Given the description of an element on the screen output the (x, y) to click on. 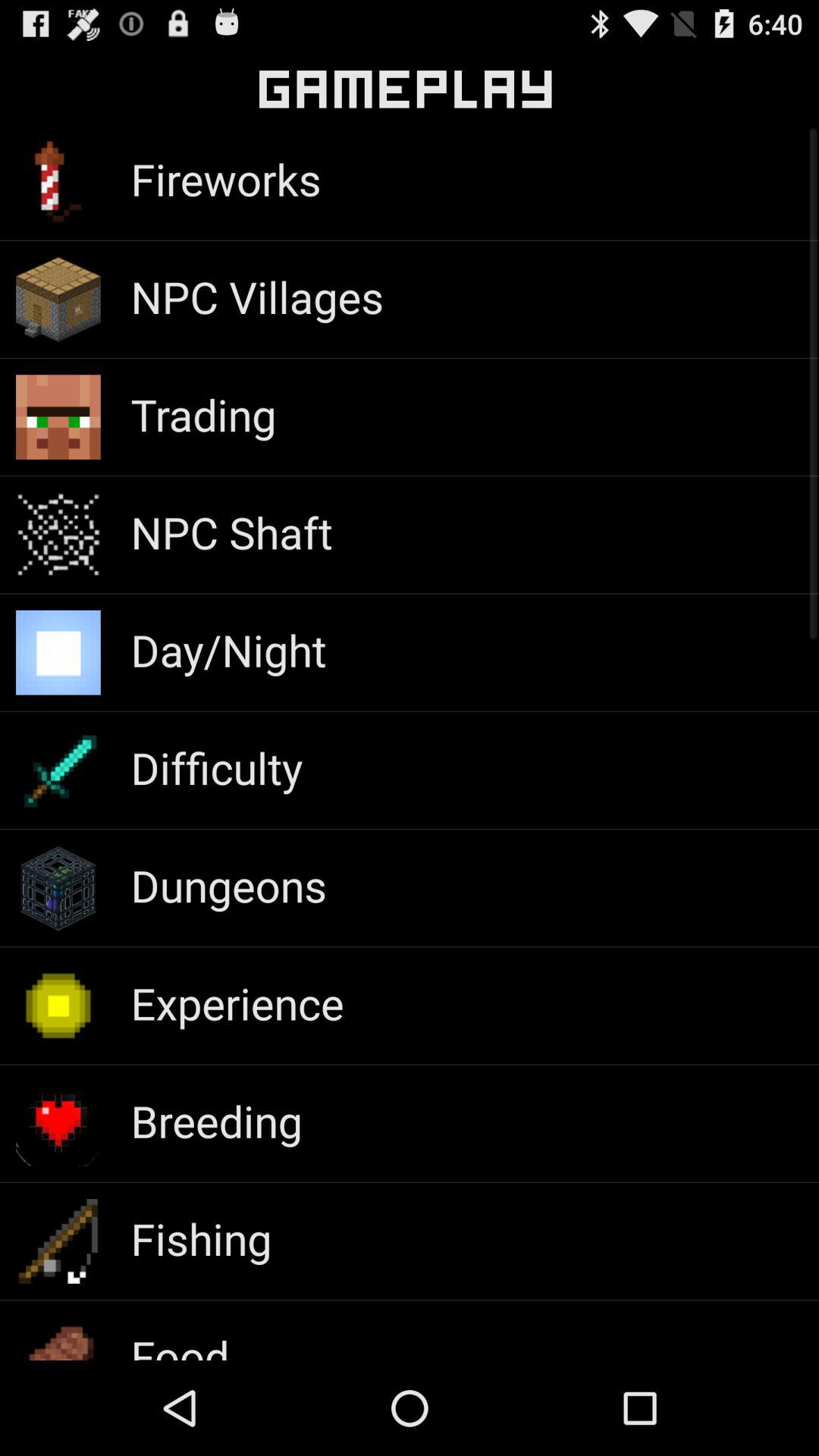
scroll to fireworks icon (225, 178)
